Given the description of an element on the screen output the (x, y) to click on. 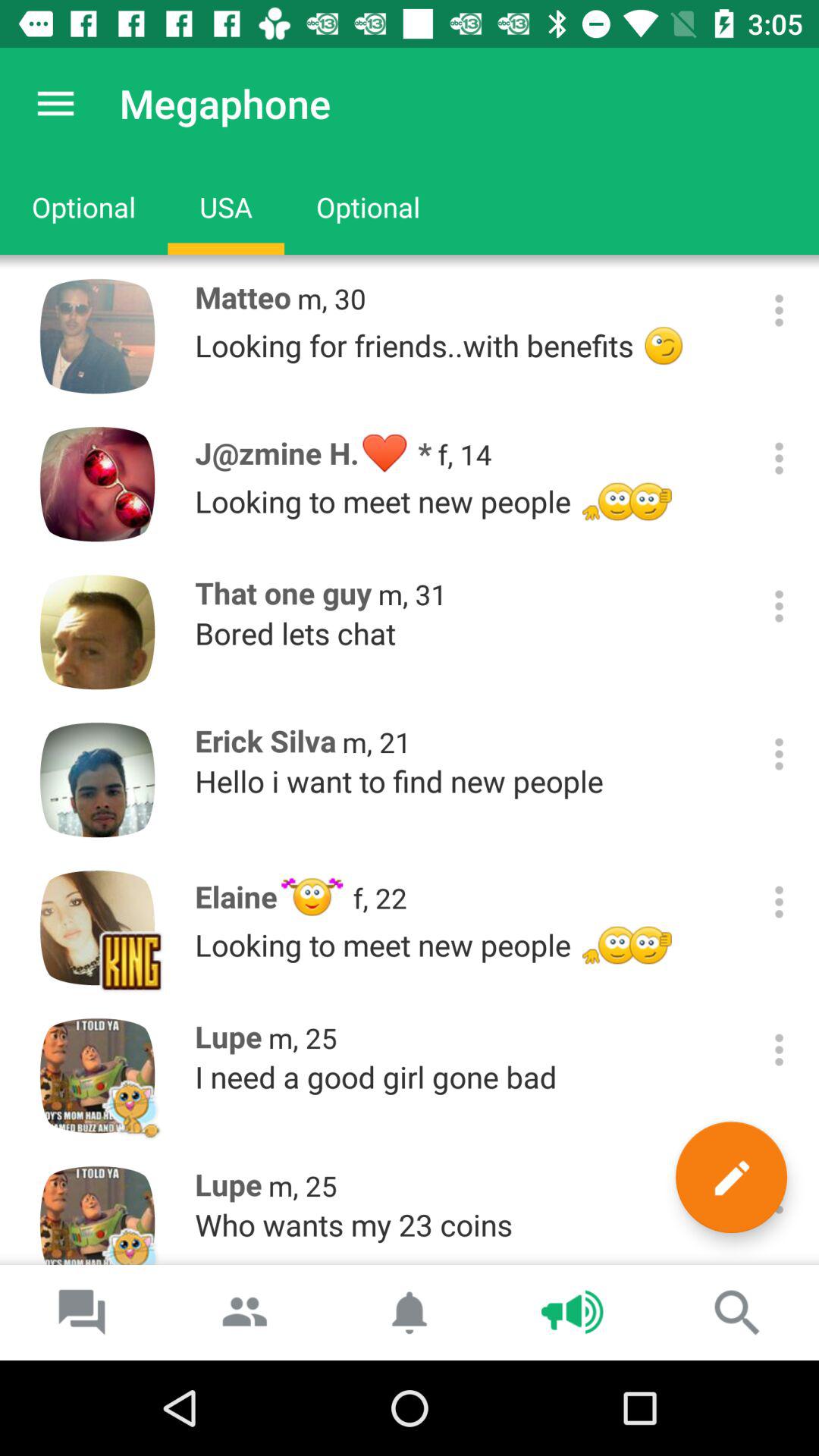
select more options (779, 606)
